Given the description of an element on the screen output the (x, y) to click on. 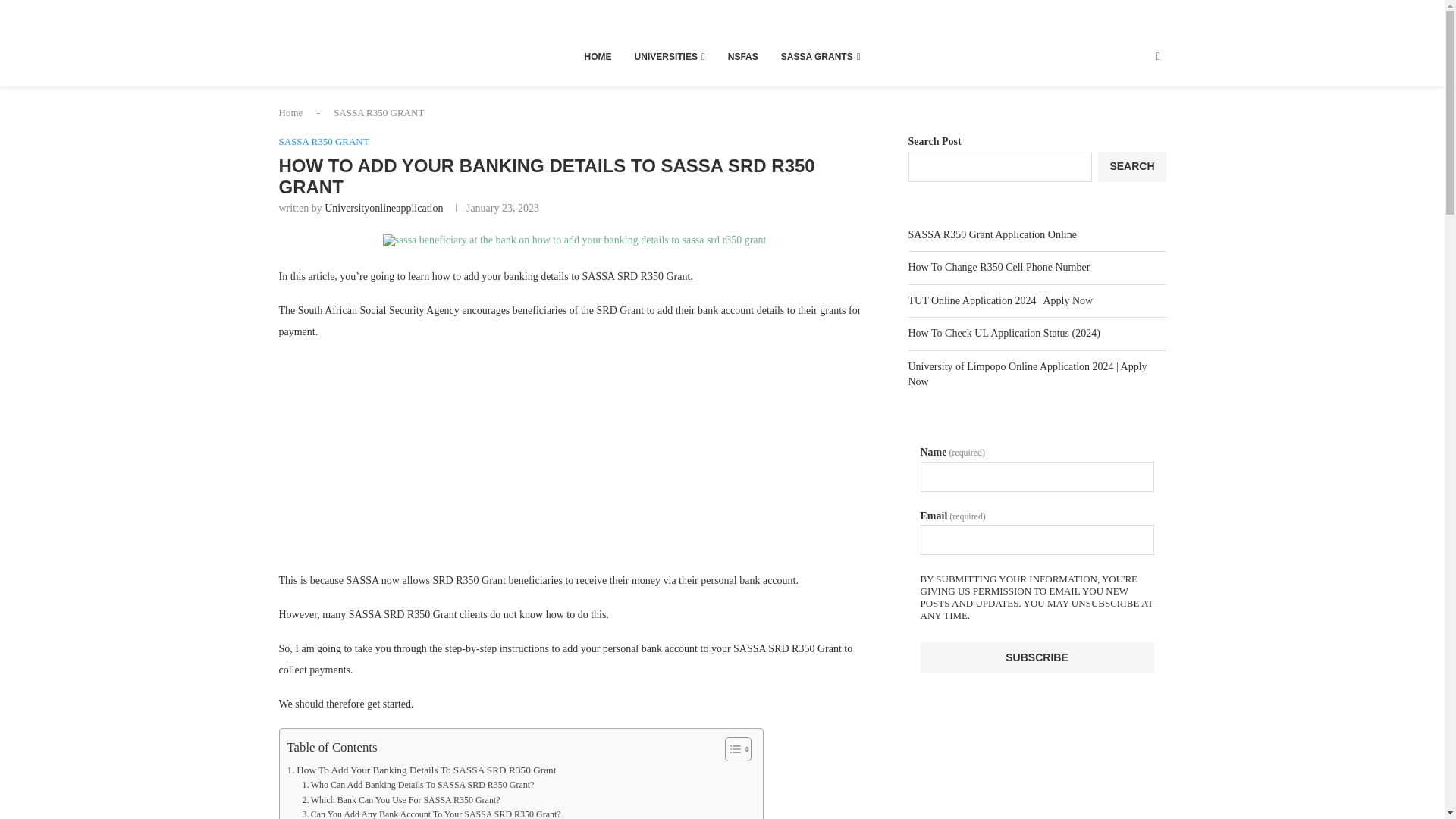
Can You Add Any Bank Account To Your SASSA SRD R350 Grant? (430, 813)
Who Can Add Banking Details To SASSA SRD R350 Grant? (417, 785)
Which Bank Can You Use For SASSA R350 Grant? (400, 800)
how to add your banking details to sassa srd r350 grant (574, 240)
SASSA GRANTS (820, 56)
How To Add Your Banking Details To SASSA SRD R350 Grant (421, 770)
UNIVERSITIES (669, 56)
